Given the description of an element on the screen output the (x, y) to click on. 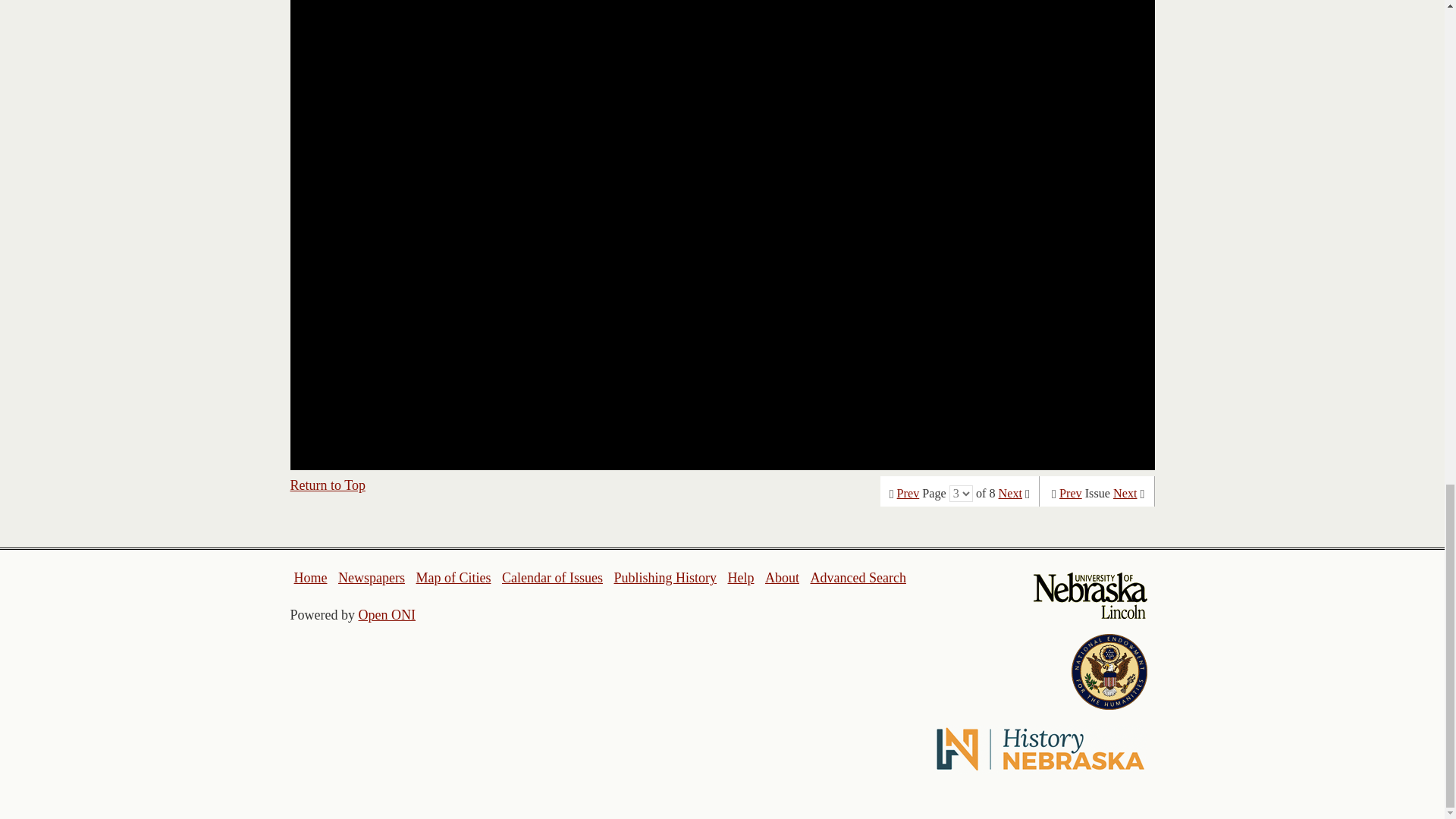
Open ONI (386, 614)
Next (1010, 493)
Return to Top (327, 485)
Publishing History (664, 577)
Next (1125, 493)
Newspapers (370, 577)
Prev (1070, 493)
Map of Cities (452, 577)
Calendar of Issues (552, 577)
About (782, 577)
